Given the description of an element on the screen output the (x, y) to click on. 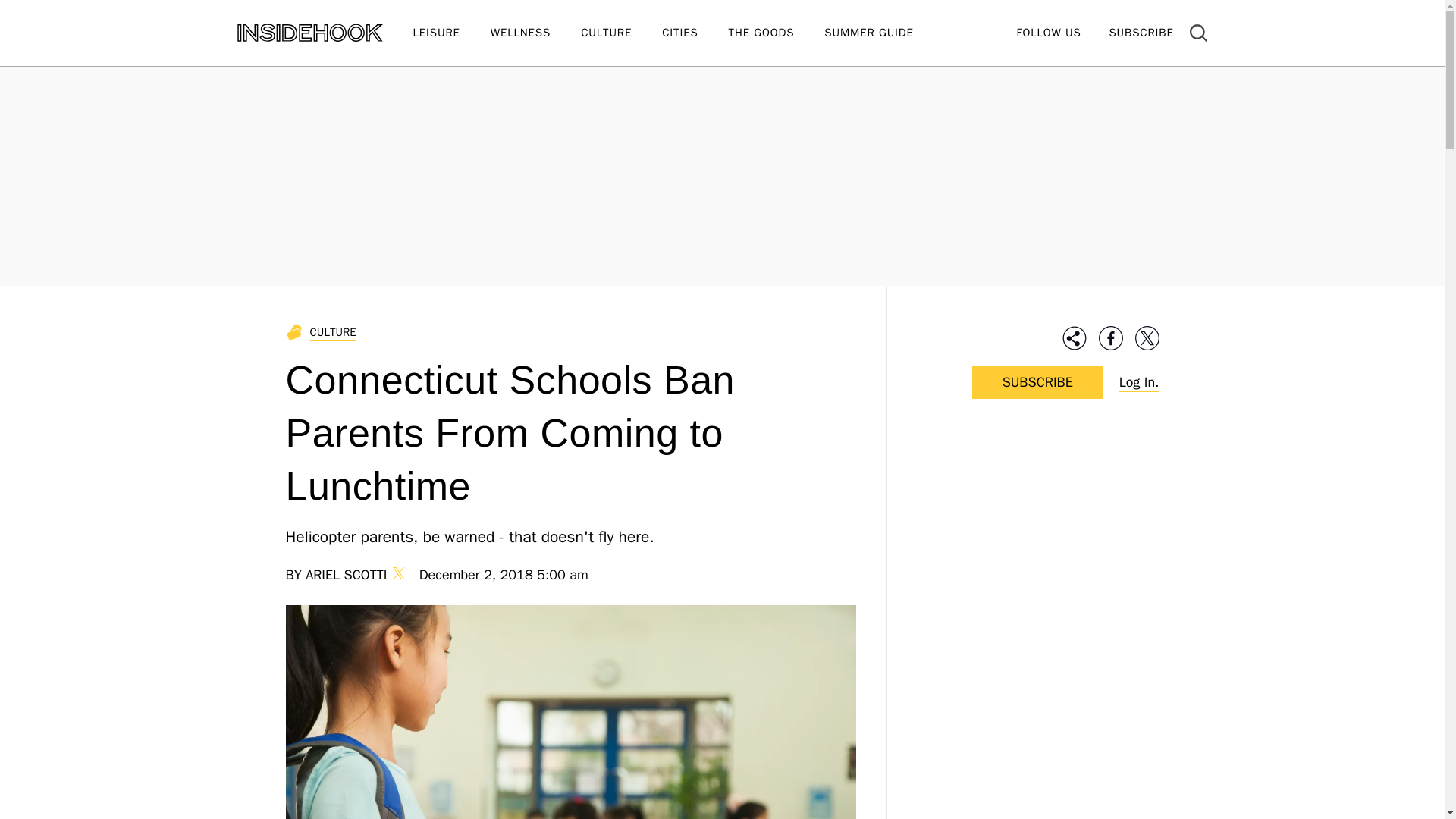
SUMMER GUIDE (883, 32)
SUBSCRIBE (1140, 32)
CULTURE (621, 32)
THE GOODS (777, 32)
CITIES (695, 32)
WELLNESS (535, 32)
FOLLOW US (1048, 32)
LEISURE (450, 32)
